Given the description of an element on the screen output the (x, y) to click on. 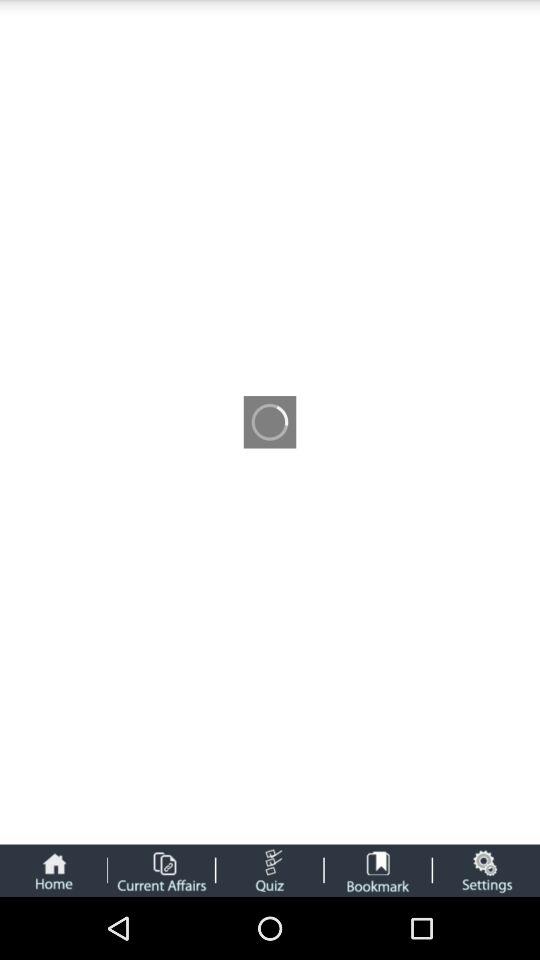
go to quiz (269, 870)
